Given the description of an element on the screen output the (x, y) to click on. 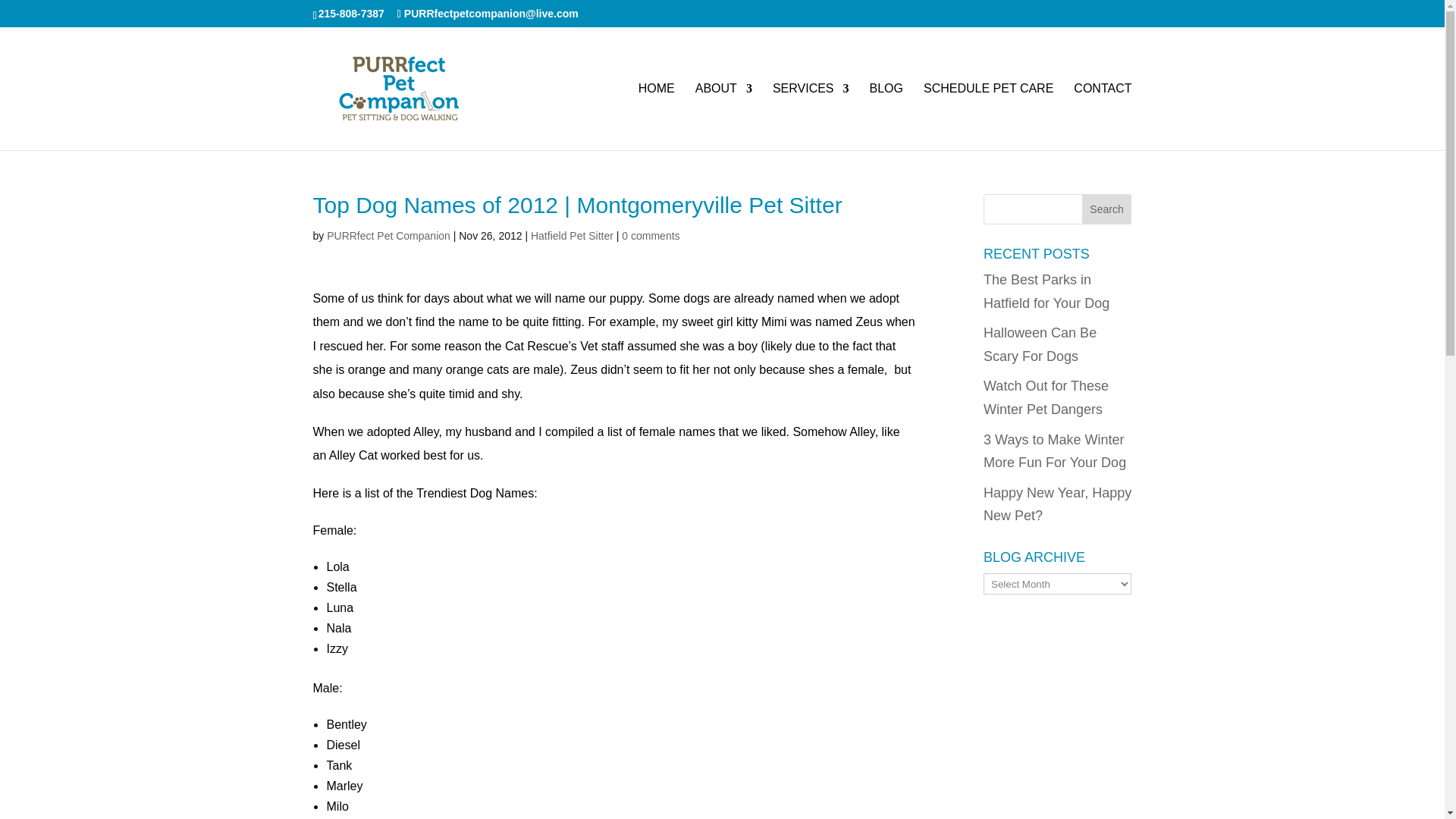
SERVICES (810, 116)
Search (1106, 209)
3 Ways to Make Winter More Fun For Your Dog (1054, 451)
SCHEDULE PET CARE (987, 116)
Halloween Can Be Scary For Dogs (1040, 344)
Hatfield Pet Sitter (571, 235)
PURRfect Pet Companion (387, 235)
0 comments (650, 235)
Search (1106, 209)
Watch Out for These Winter Pet Dangers (1046, 397)
